Given the description of an element on the screen output the (x, y) to click on. 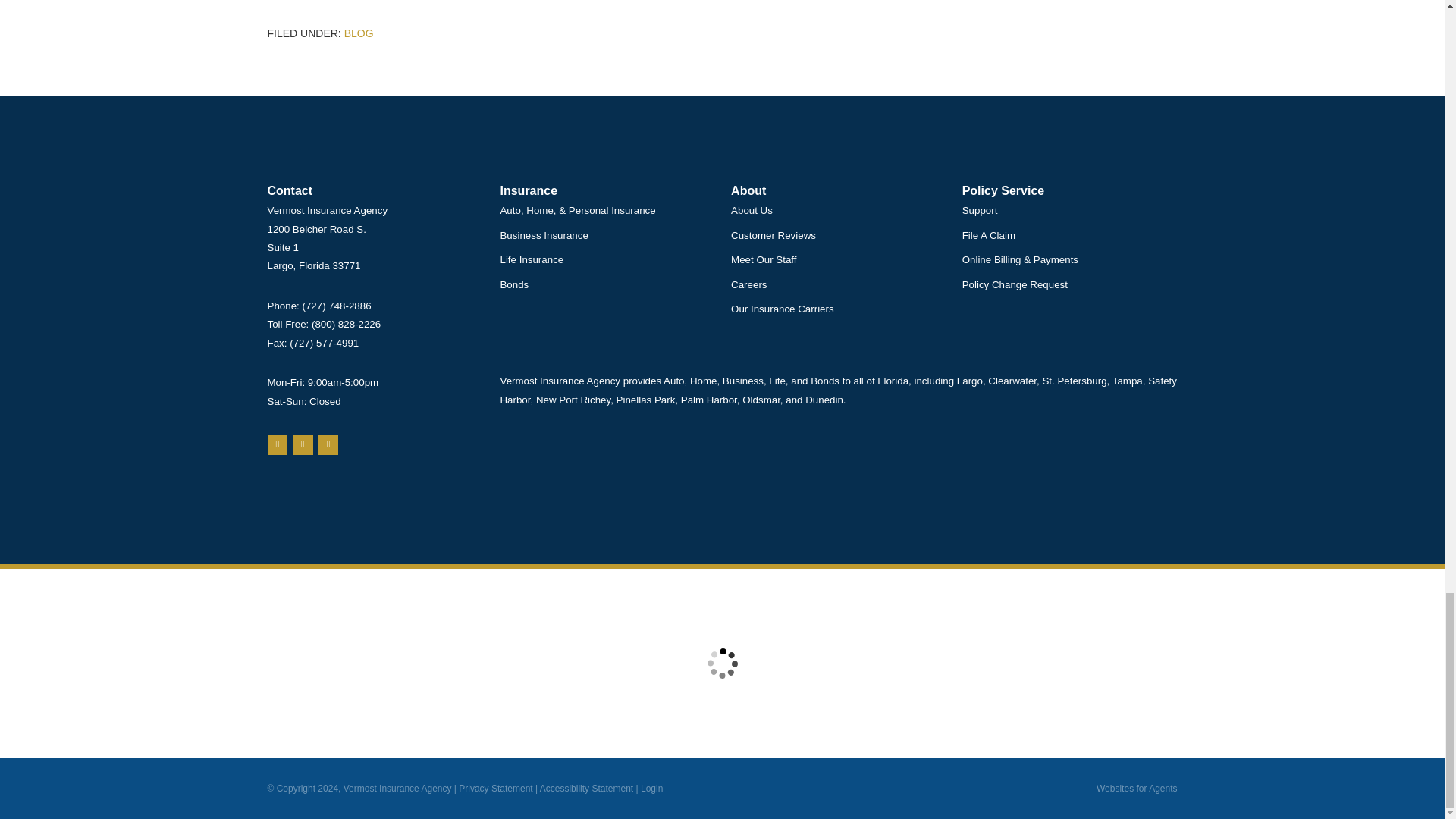
Facebook (328, 444)
Yelp (302, 444)
Blog (358, 33)
Google Maps (276, 444)
